Given the description of an element on the screen output the (x, y) to click on. 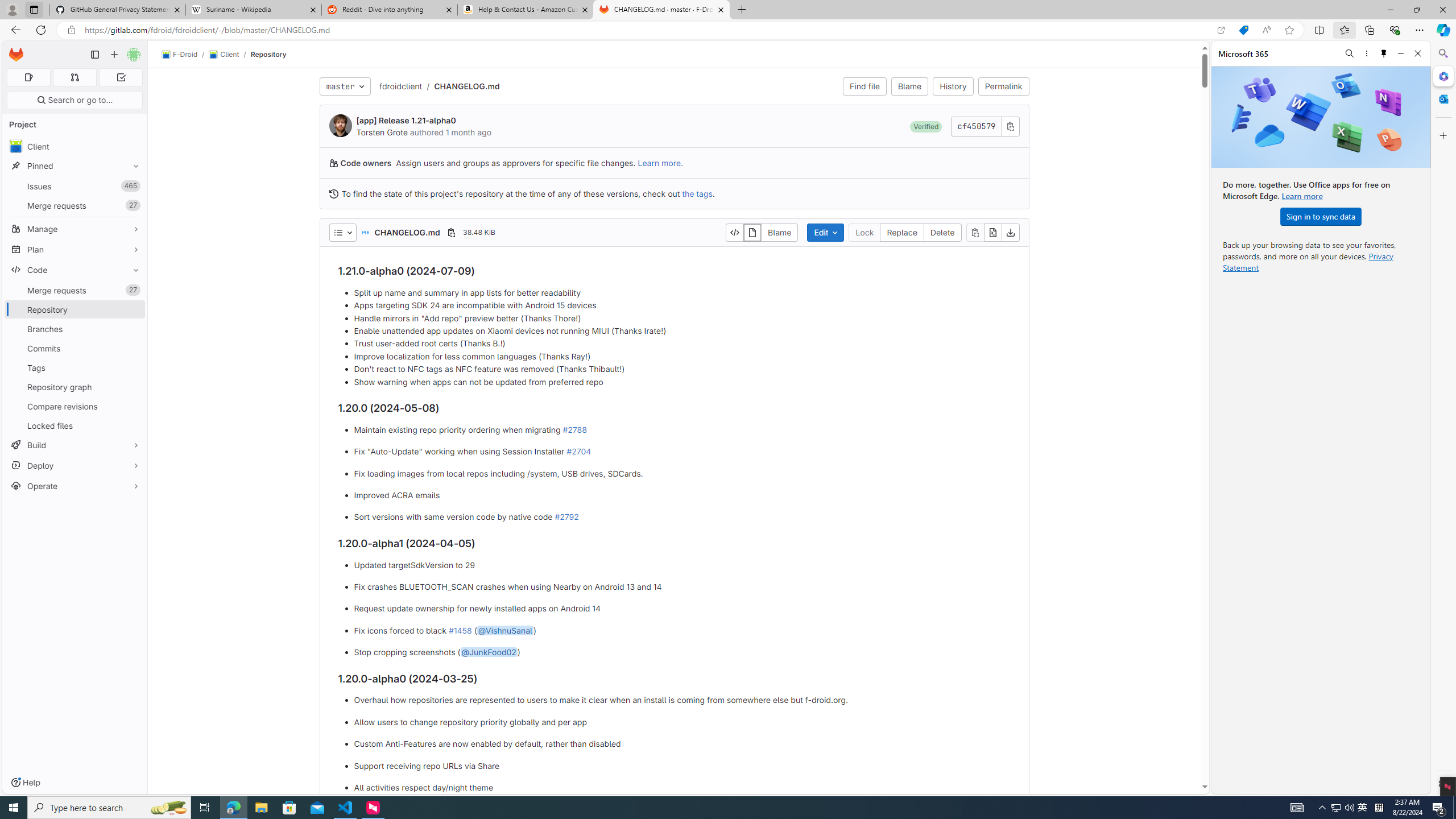
Class: s16 gl-icon gl-button-icon  (1010, 126)
Unpin Merge requests (132, 290)
Pin Repository graph (132, 386)
Pinned (74, 165)
Handle mirrors in "Add repo" preview better (Thanks Thore!) (681, 318)
Replace (901, 232)
Copy commit SHA (1010, 126)
Fix icons forced to black #1458 (@VishnuSanal) (681, 630)
Open raw (991, 232)
Commits (74, 348)
